Given the description of an element on the screen output the (x, y) to click on. 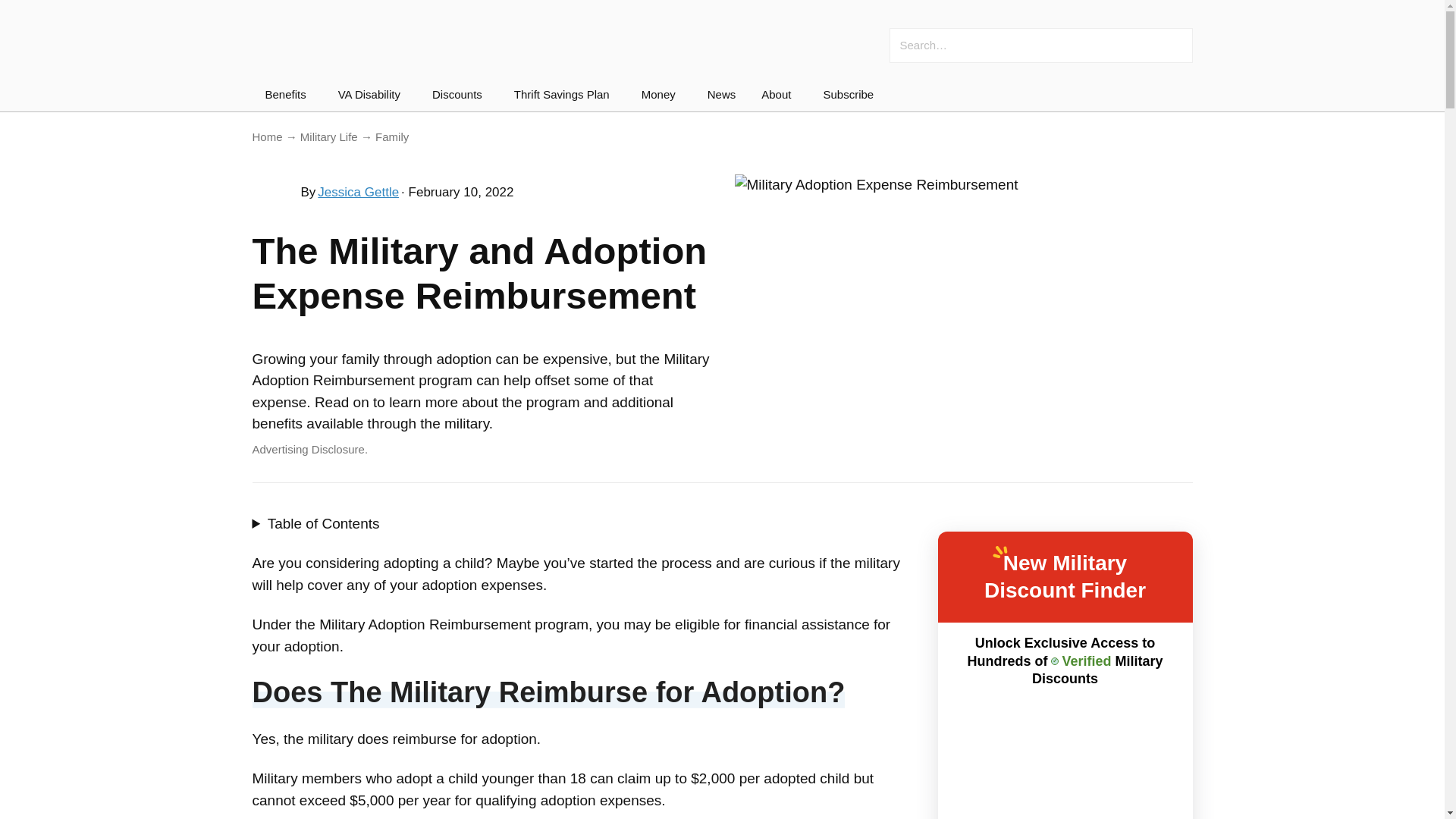
Search for (1060, 45)
VA Disability (372, 94)
Thrift Savings Plan (564, 94)
Discounts (460, 94)
Money (661, 94)
Benefits (288, 94)
The Military Wallet (365, 38)
